Given the description of an element on the screen output the (x, y) to click on. 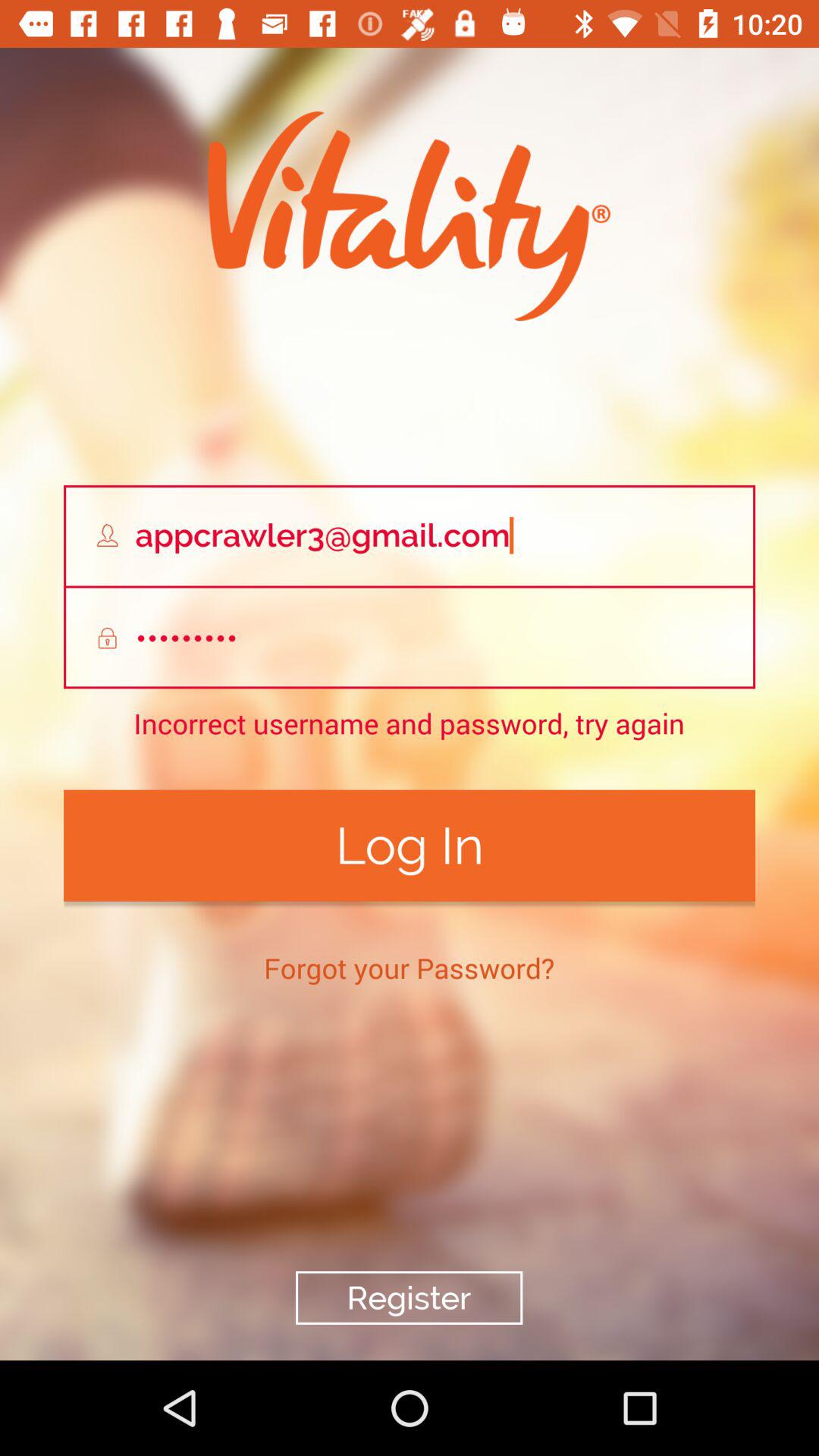
tap the item above incorrect username and icon (409, 638)
